Given the description of an element on the screen output the (x, y) to click on. 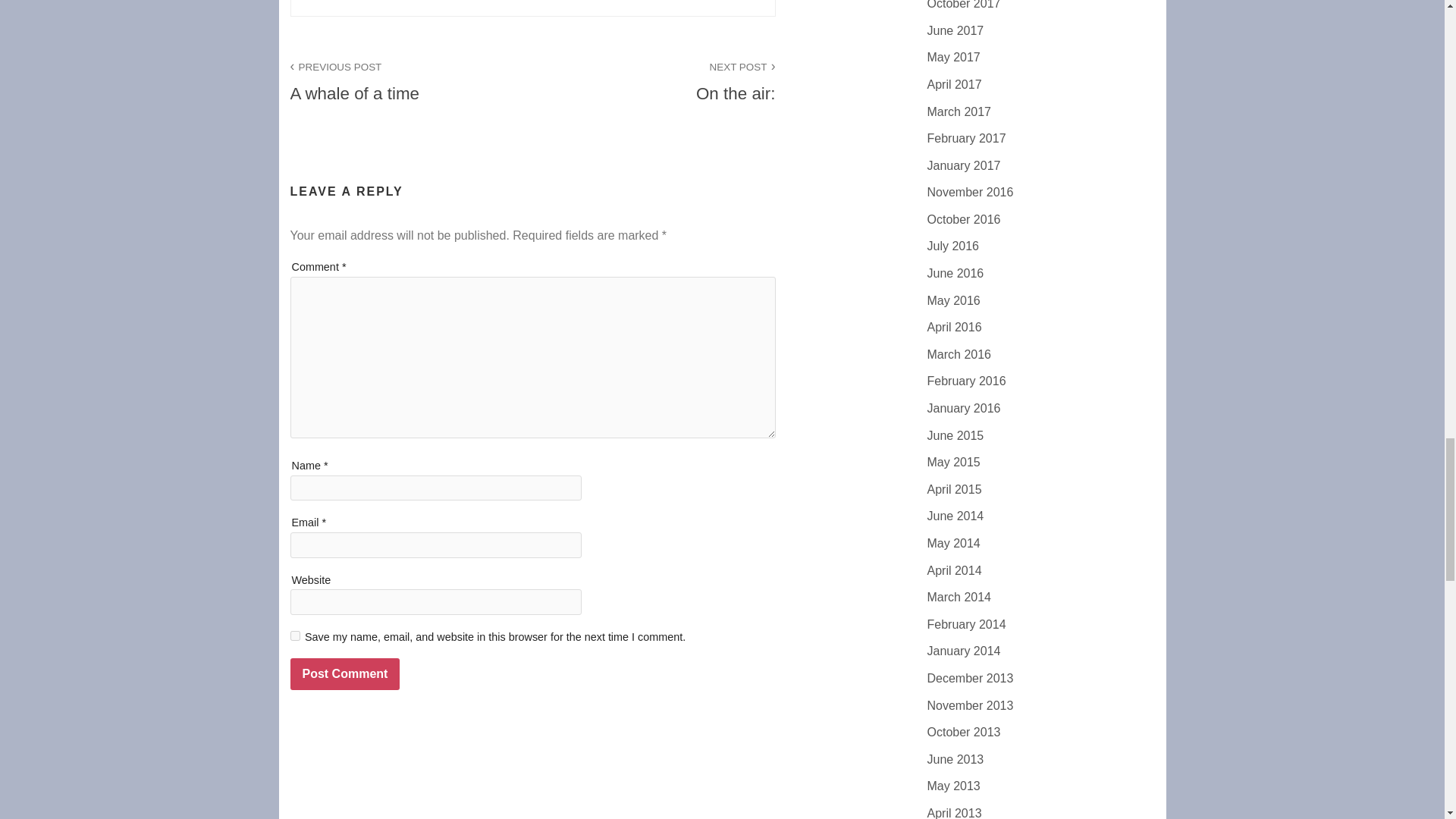
Post Comment (410, 80)
yes (343, 674)
Post Comment (294, 635)
